Given the description of an element on the screen output the (x, y) to click on. 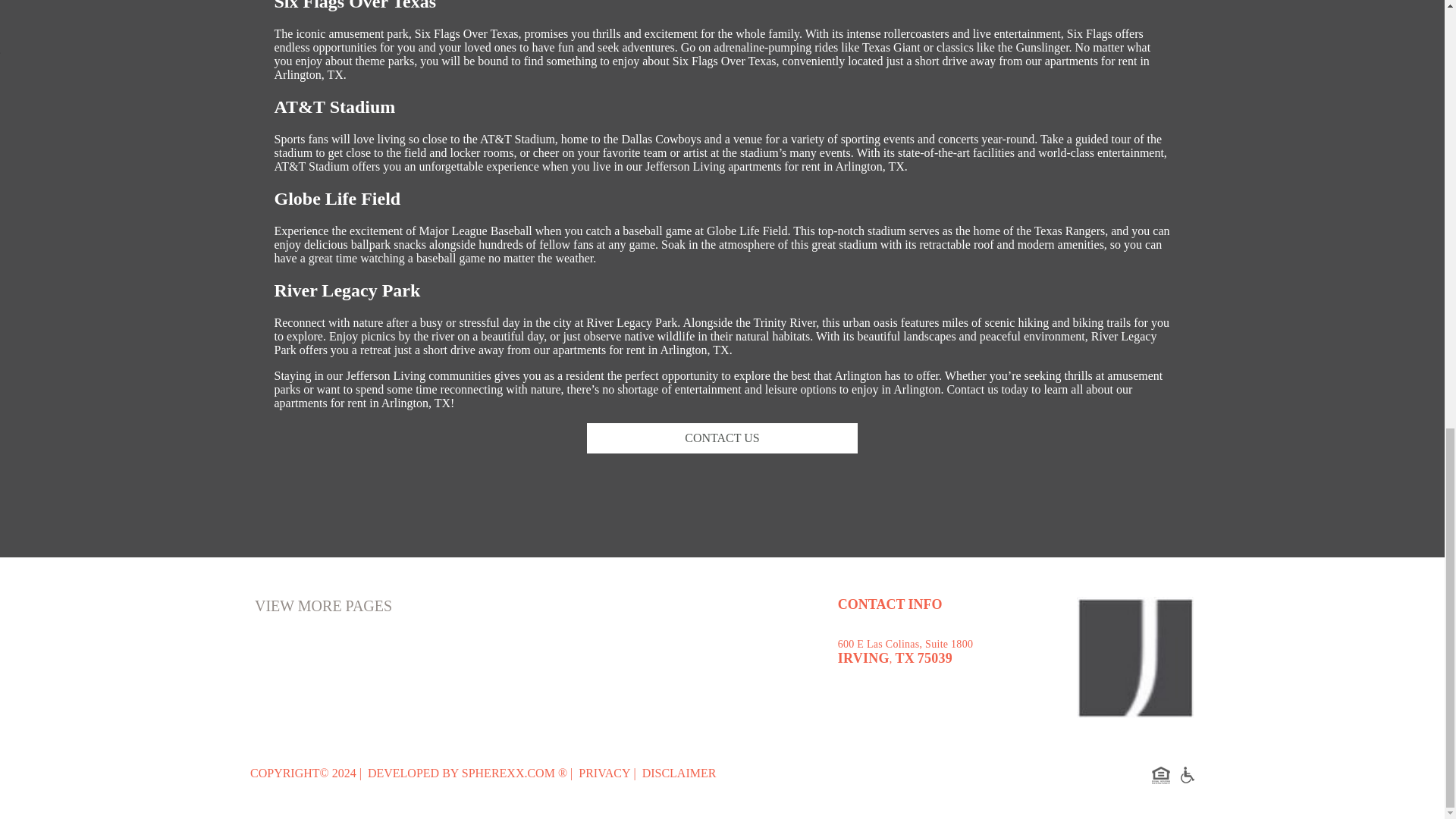
Arlington, TX (415, 402)
CONTACT US (721, 438)
VIEW MORE PAGES (323, 606)
